Given the description of an element on the screen output the (x, y) to click on. 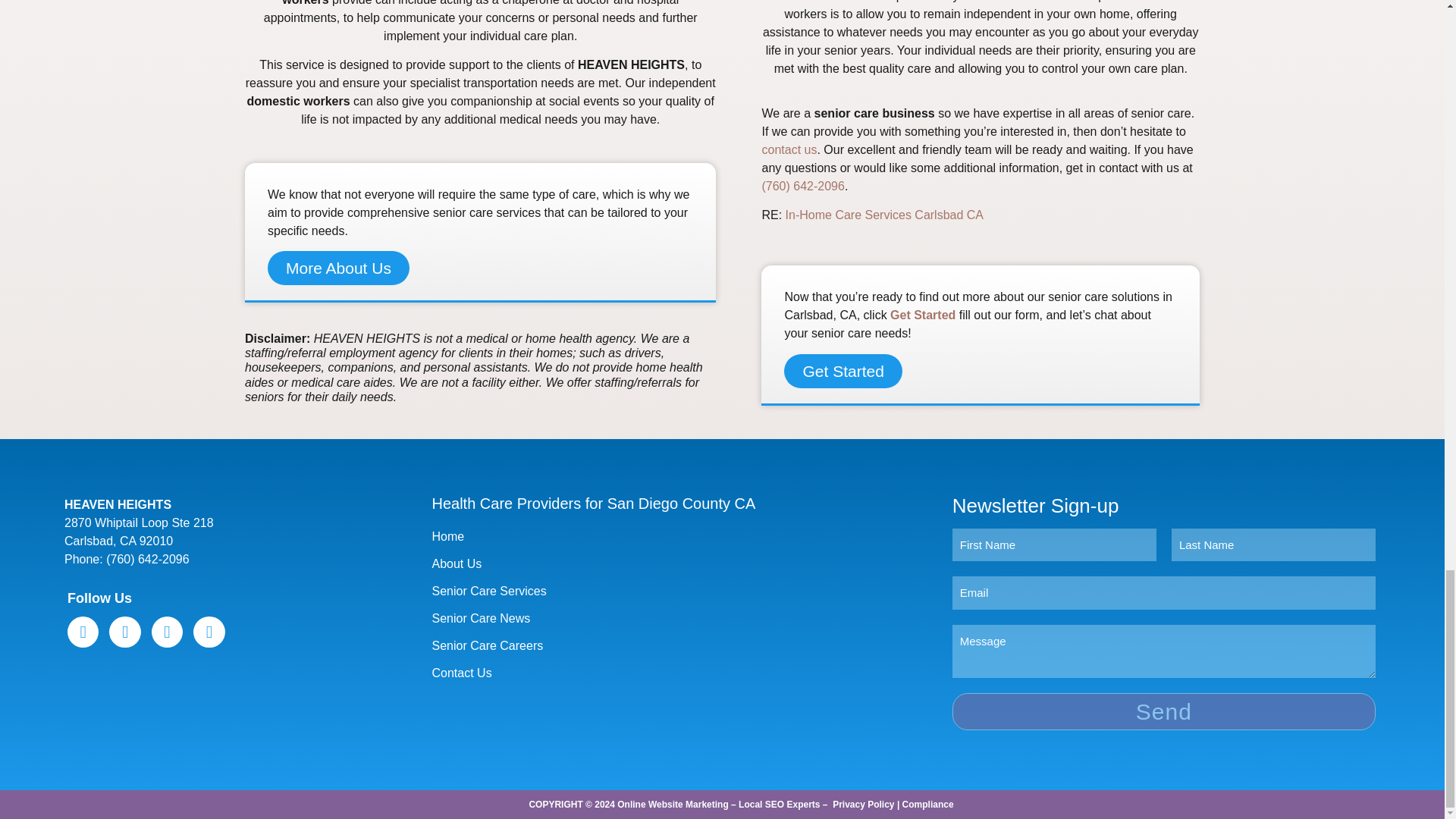
contact us (788, 149)
Compliance (927, 804)
Get Started (842, 370)
Get Started (922, 314)
More About Us (338, 267)
Privacy Policy (862, 804)
In-Home Care Services Carlsbad CA (885, 214)
Online Website Marketing - Local SEO Experts (718, 804)
In Home care Services Carlsbad CA (885, 214)
